Given the description of an element on the screen output the (x, y) to click on. 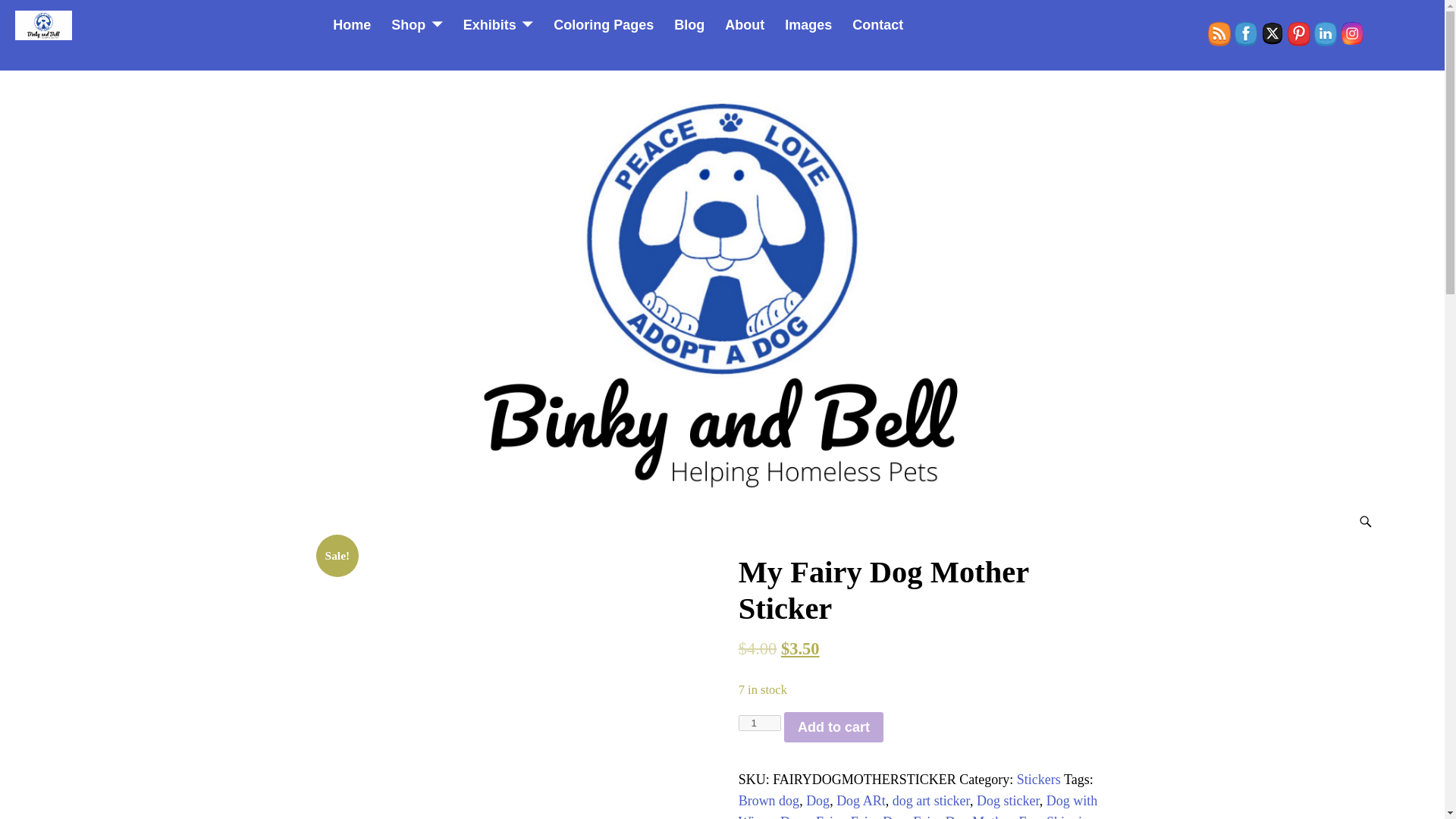
Brown dog (768, 800)
Instagram (1351, 33)
Binky and Bell Shop (416, 25)
Dog (817, 800)
Fairy (829, 816)
Binky and Bell Coloring Pages (603, 25)
Shop (416, 25)
Fairy Dog Mother (961, 816)
Stickers (1038, 779)
About (744, 25)
